Given the description of an element on the screen output the (x, y) to click on. 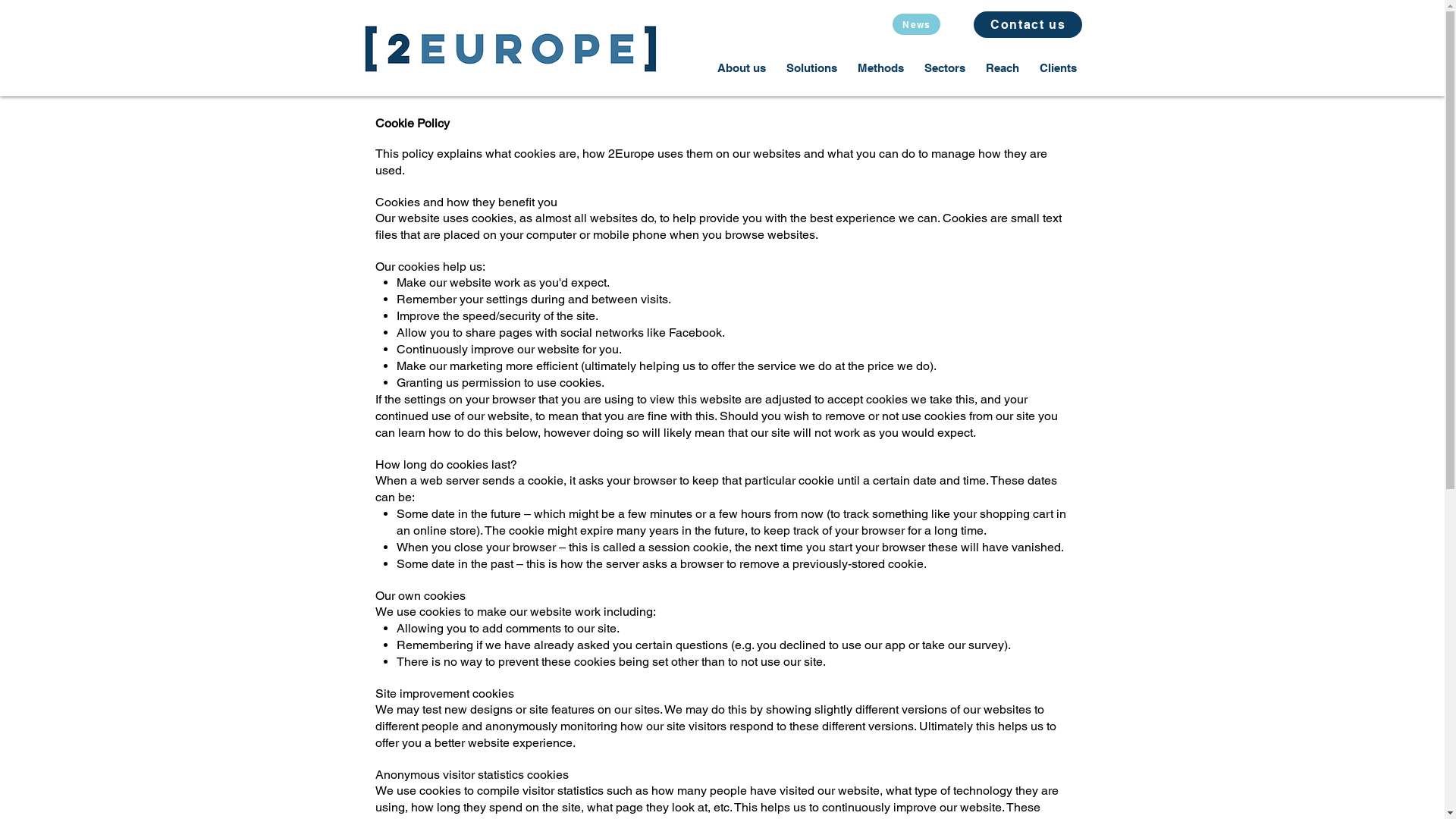
Contact us Element type: text (1027, 24)
Solutions Element type: text (811, 67)
Methods Element type: text (880, 67)
News Element type: text (915, 23)
Clients Element type: text (1058, 67)
About us Element type: text (741, 67)
Reach Element type: text (1002, 67)
Sectors Element type: text (944, 67)
